Given the description of an element on the screen output the (x, y) to click on. 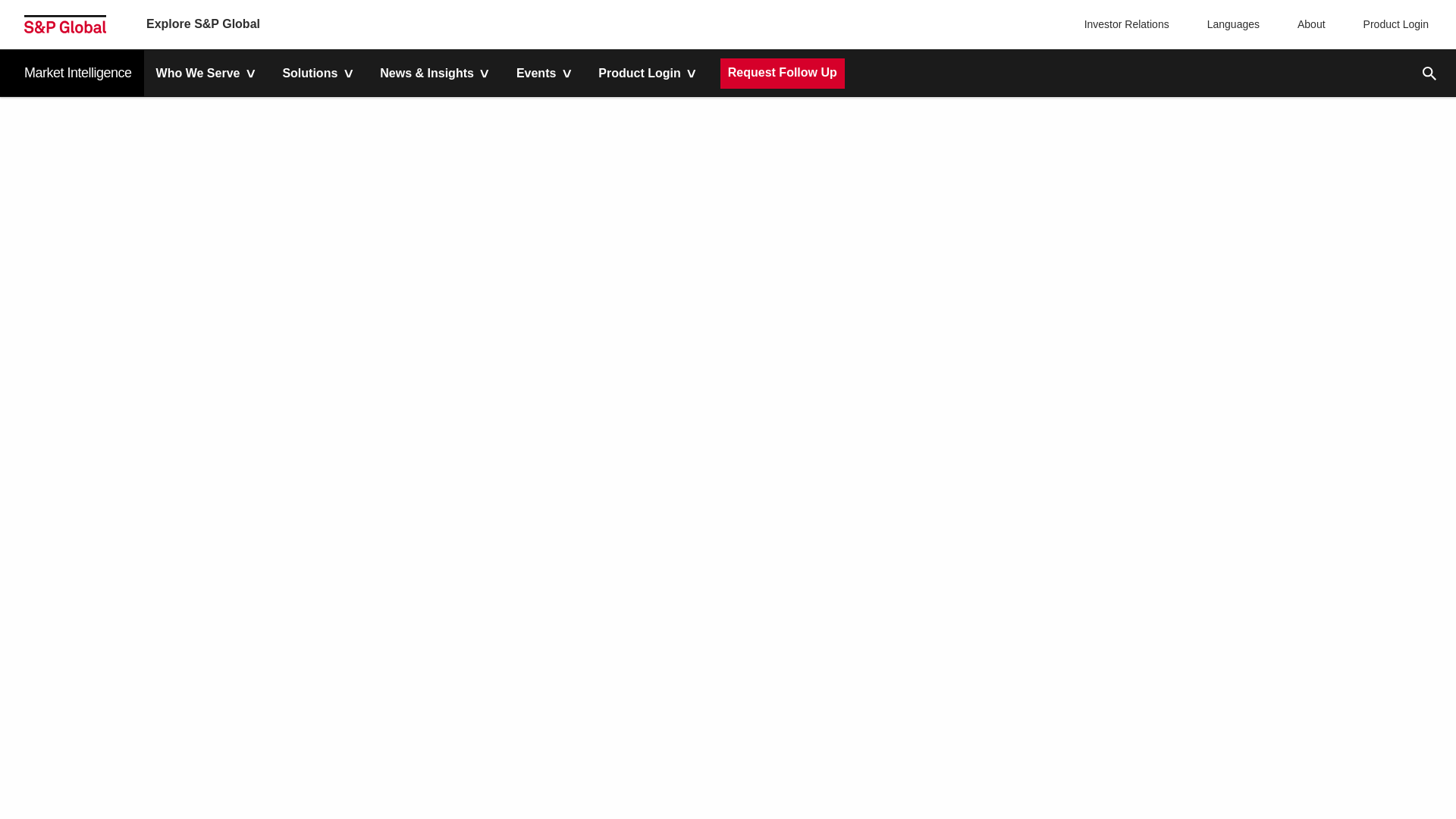
Languages (1230, 24)
Product Login (1392, 24)
About (1307, 24)
Investor Relations (1129, 24)
